Given the description of an element on the screen output the (x, y) to click on. 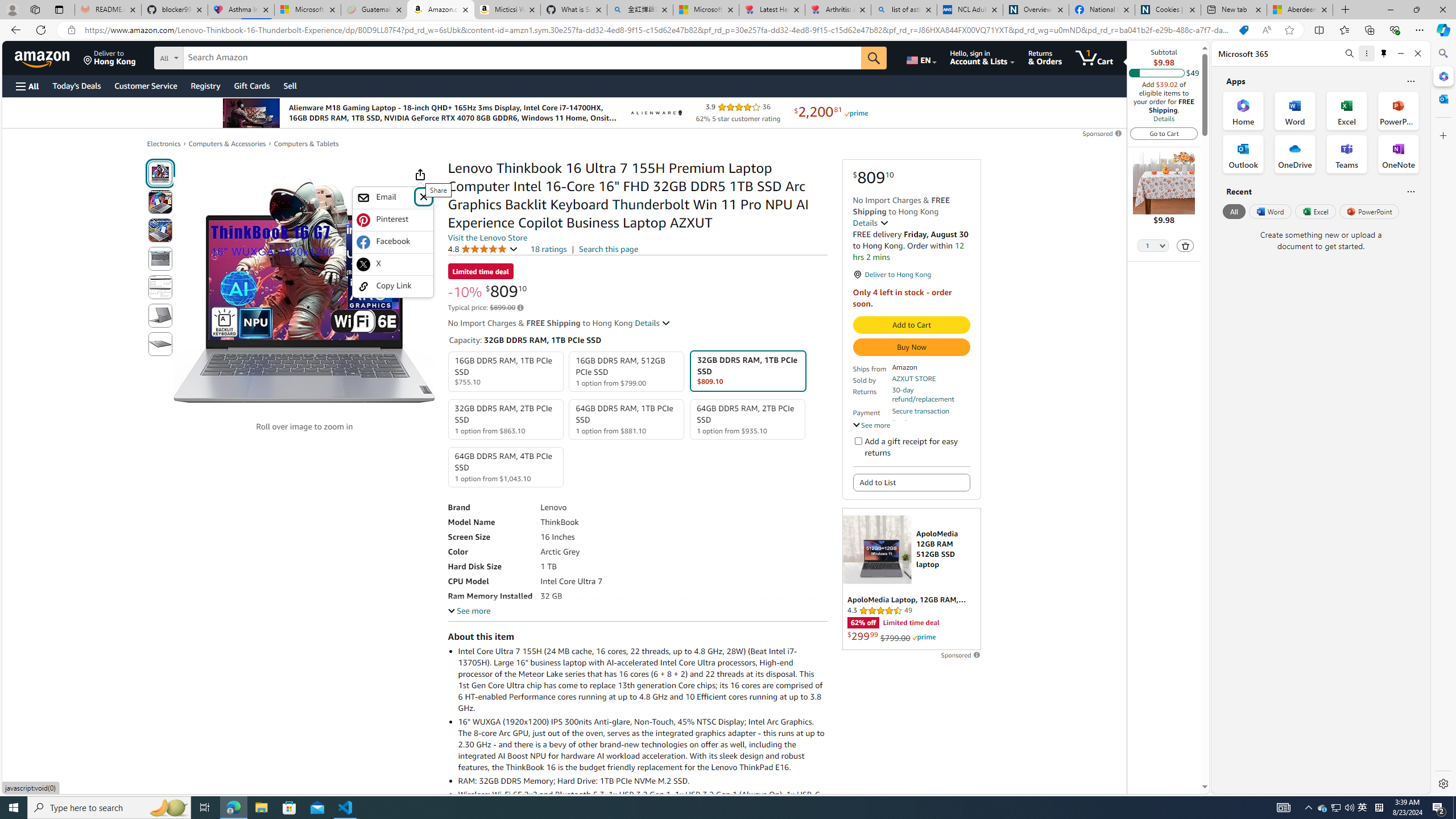
Is this helpful? (1410, 191)
Add a gift receipt for easy returns (857, 440)
Pinterest (392, 219)
Details (1163, 118)
Go to Cart (1163, 133)
18 ratings (547, 248)
